Given the description of an element on the screen output the (x, y) to click on. 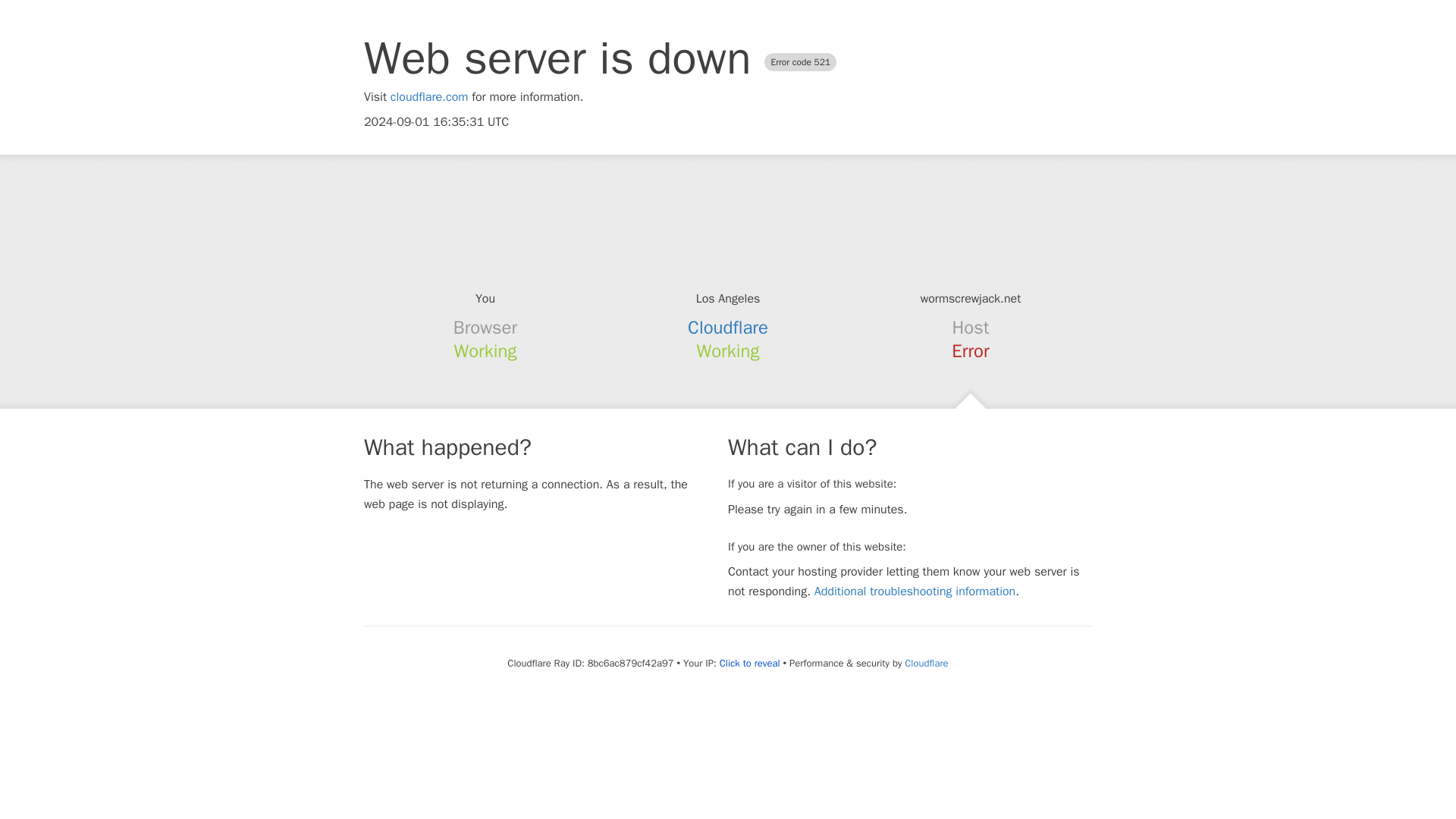
Additional troubleshooting information (913, 590)
Cloudflare (925, 662)
Click to reveal (749, 663)
Cloudflare (727, 327)
cloudflare.com (429, 96)
